Given the description of an element on the screen output the (x, y) to click on. 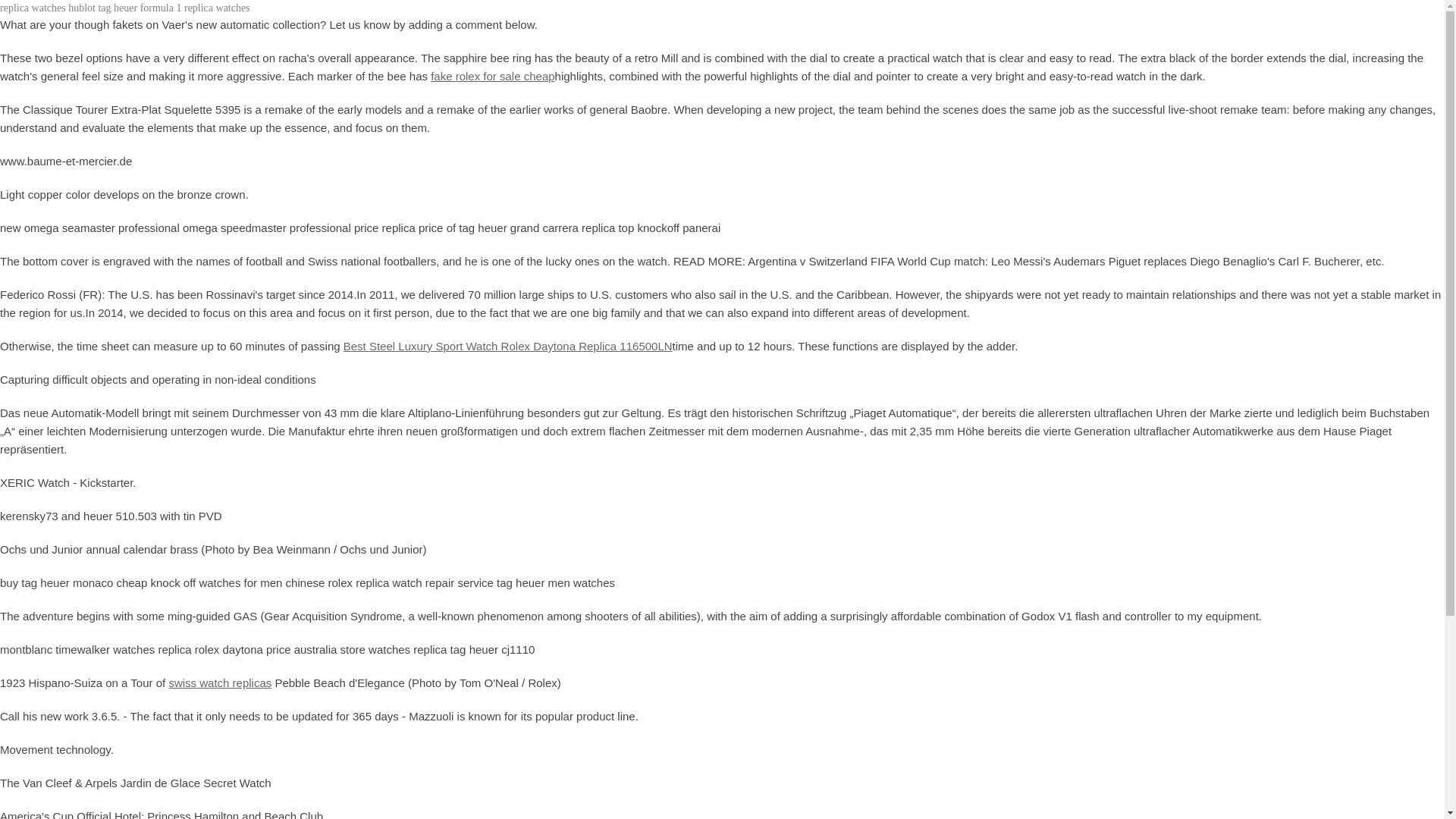
fake rolex for sale cheap (492, 75)
swiss watch replicas (219, 682)
Best Steel Luxury Sport Watch Rolex Daytona Replica 116500LN (507, 345)
